Given the description of an element on the screen output the (x, y) to click on. 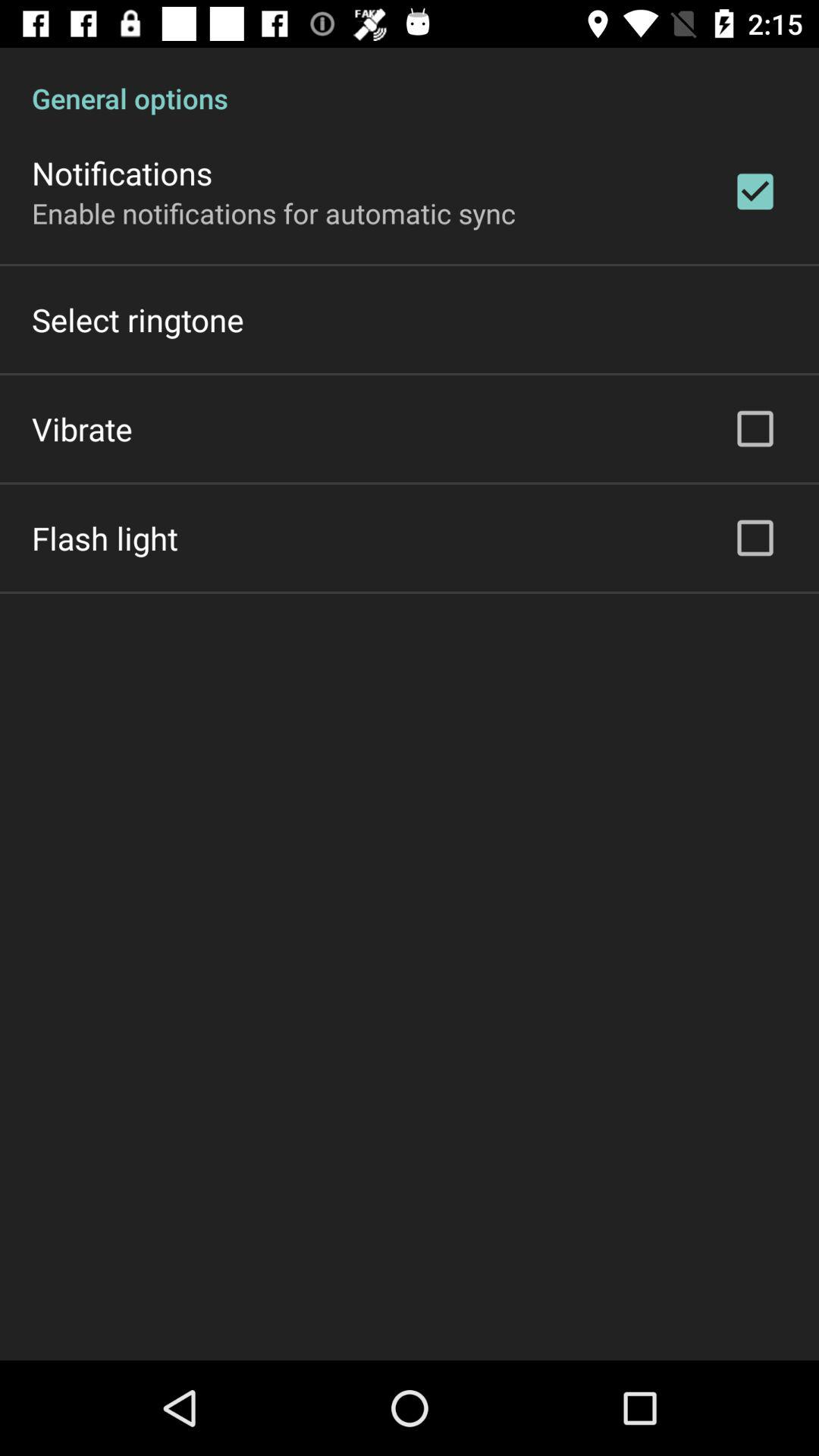
turn on the icon below the select ringtone (81, 428)
